Given the description of an element on the screen output the (x, y) to click on. 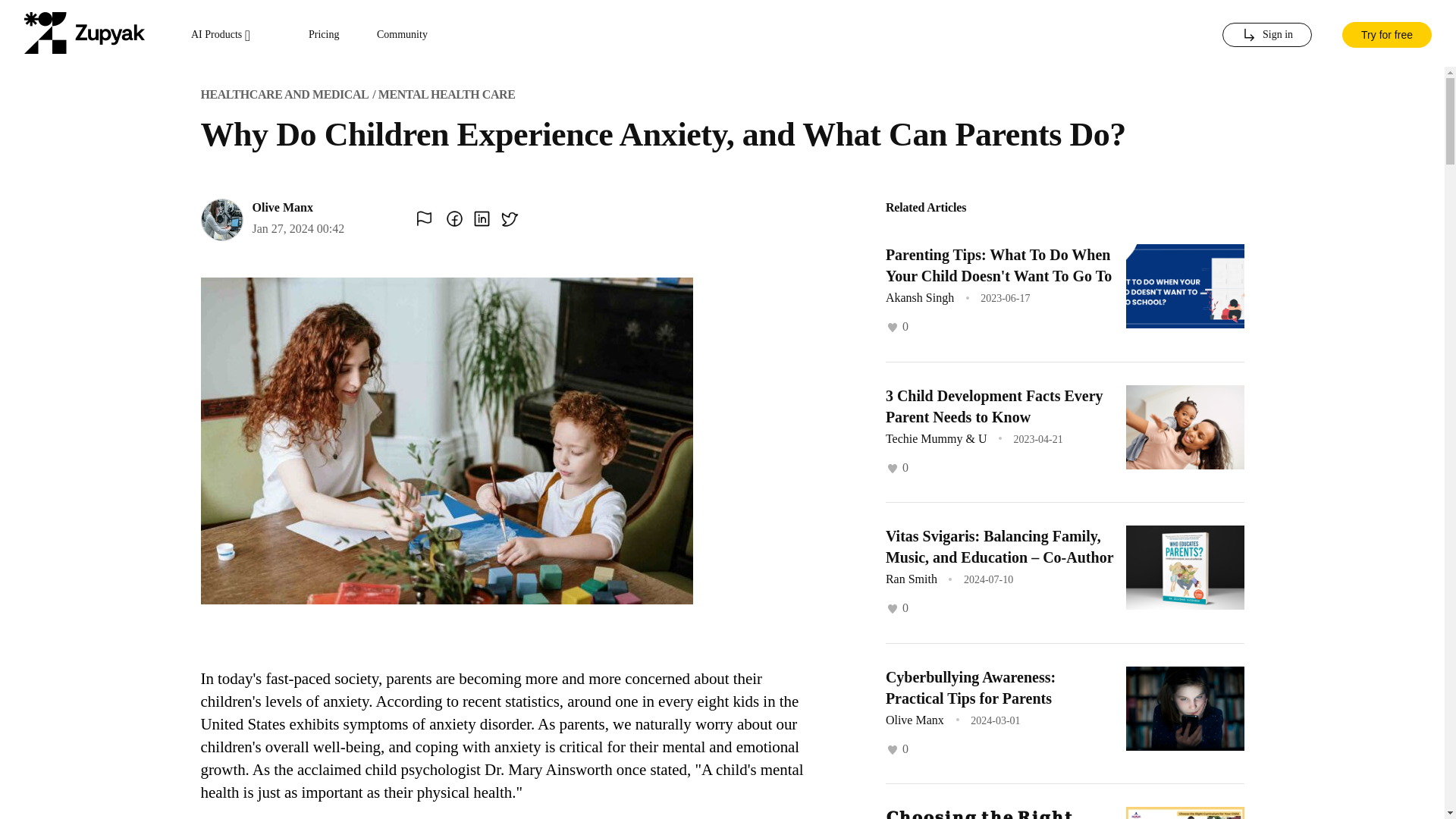
 Sign in (1267, 34)
Community (402, 34)
MENTAL HEALTH CARE (446, 93)
HEALTHCARE AND MEDICAL (284, 93)
Cyberbullying Awareness: Practical Tips for Parents (970, 687)
Try for free (1386, 33)
Pricing (323, 34)
3 Child Development Facts Every Parent Needs to Know (994, 405)
